Given the description of an element on the screen output the (x, y) to click on. 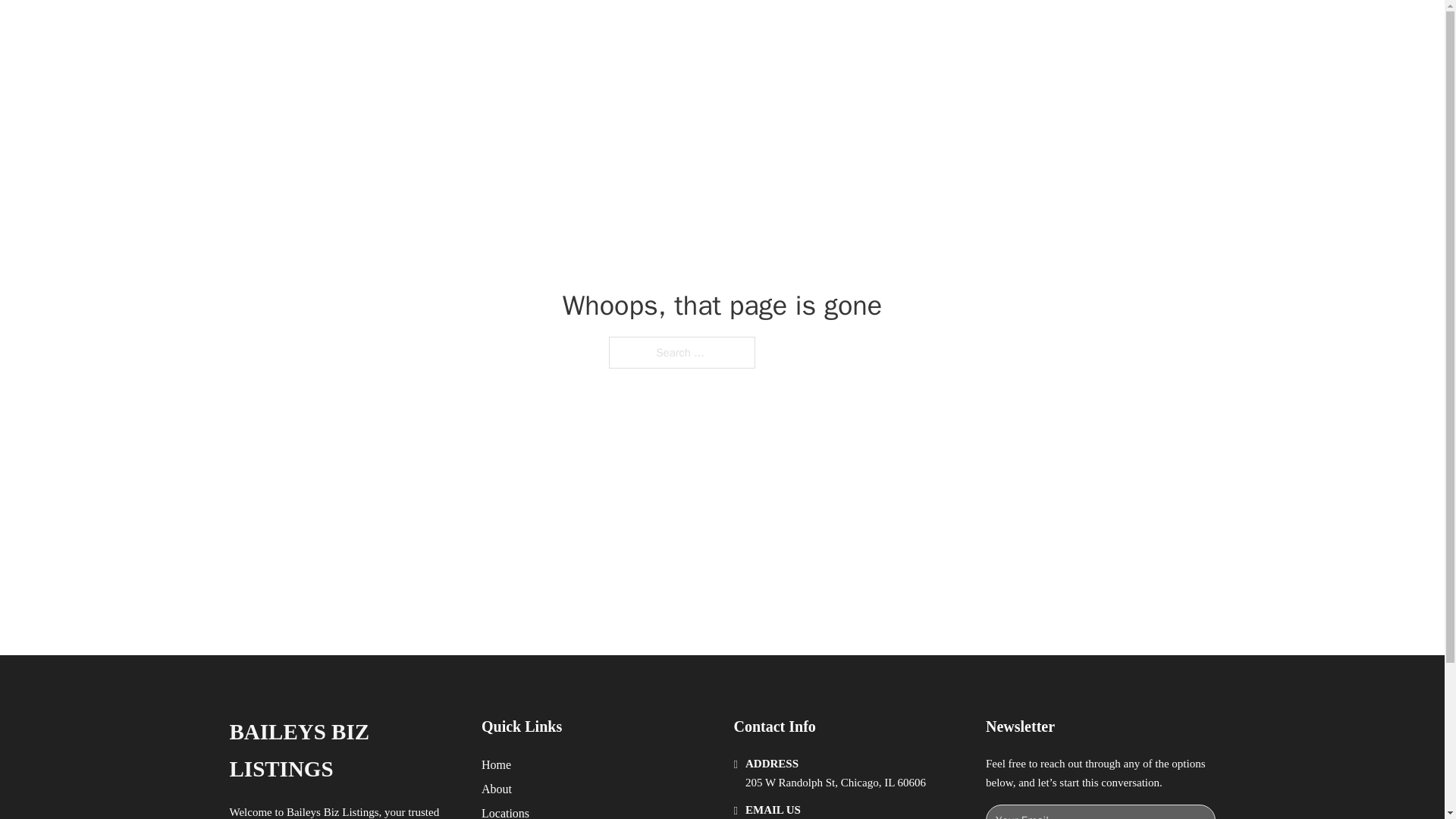
Home (496, 764)
BAILEYS BIZ LISTINGS (419, 28)
HOME (907, 29)
BAILEYS BIZ LISTINGS (343, 750)
Locations (505, 811)
LOCATIONS (978, 29)
About (496, 788)
